Given the description of an element on the screen output the (x, y) to click on. 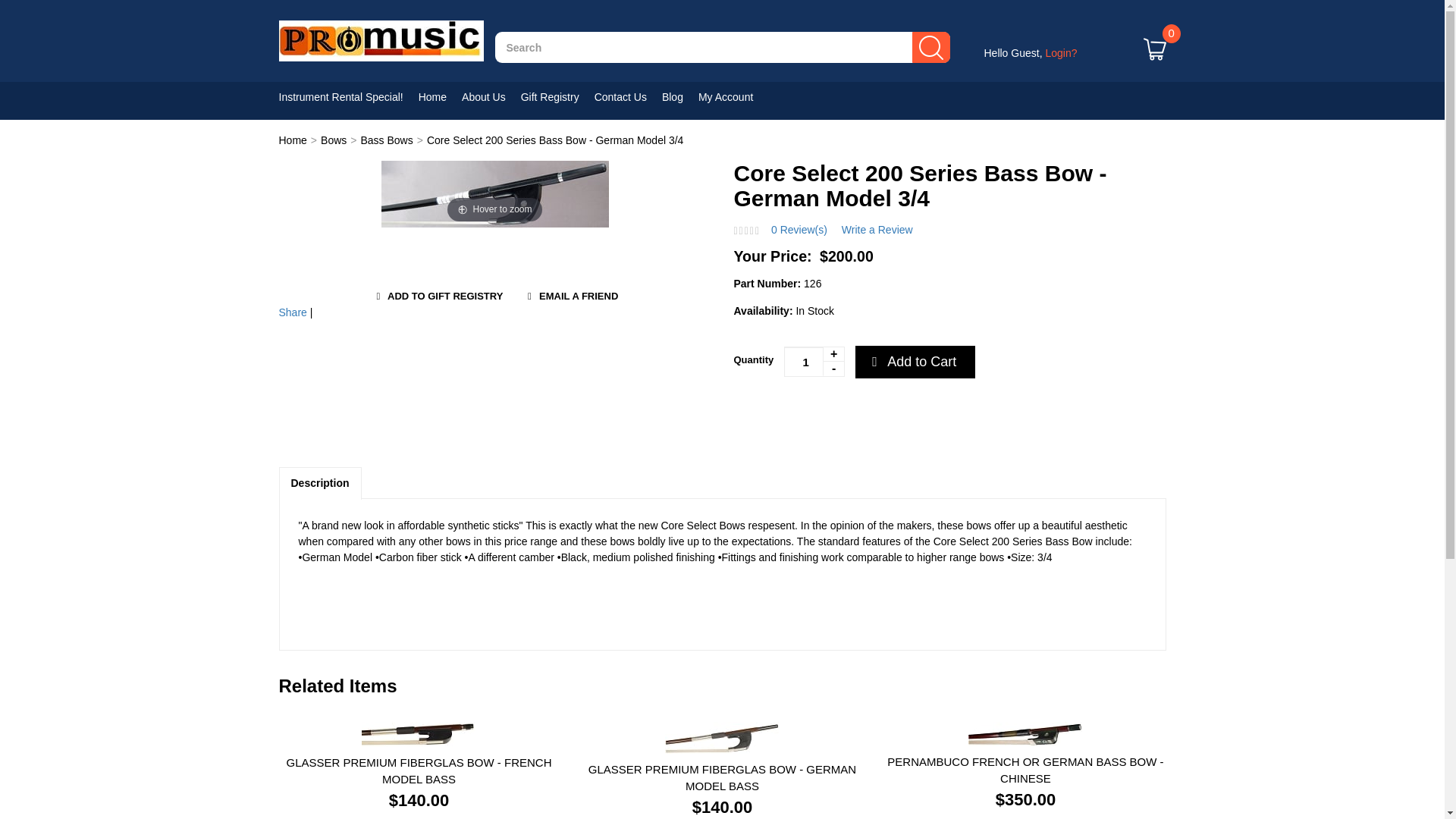
Contact Us (628, 97)
Login? (1061, 52)
Gift Registry (557, 97)
Instrument Rental Special! (349, 97)
Share (293, 312)
Blog (680, 97)
EMAIL A FRIEND (569, 296)
1 (814, 361)
Bass Bows (385, 140)
My Account (733, 97)
About Us (491, 97)
Home (440, 97)
Home (293, 140)
Bows (333, 140)
ADD TO GIFT REGISTRY (437, 296)
